Given the description of an element on the screen output the (x, y) to click on. 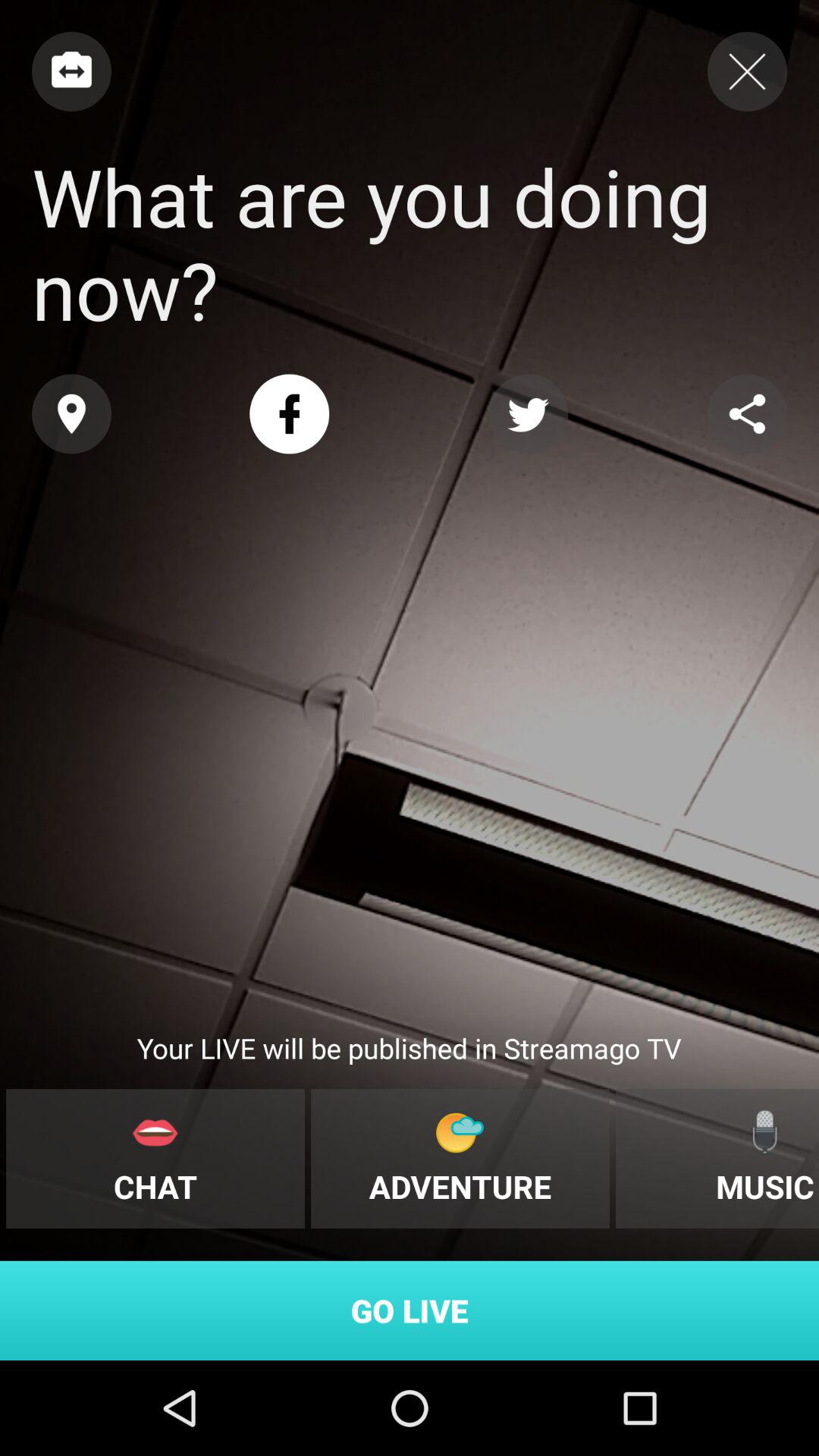
connect (71, 71)
